Given the description of an element on the screen output the (x, y) to click on. 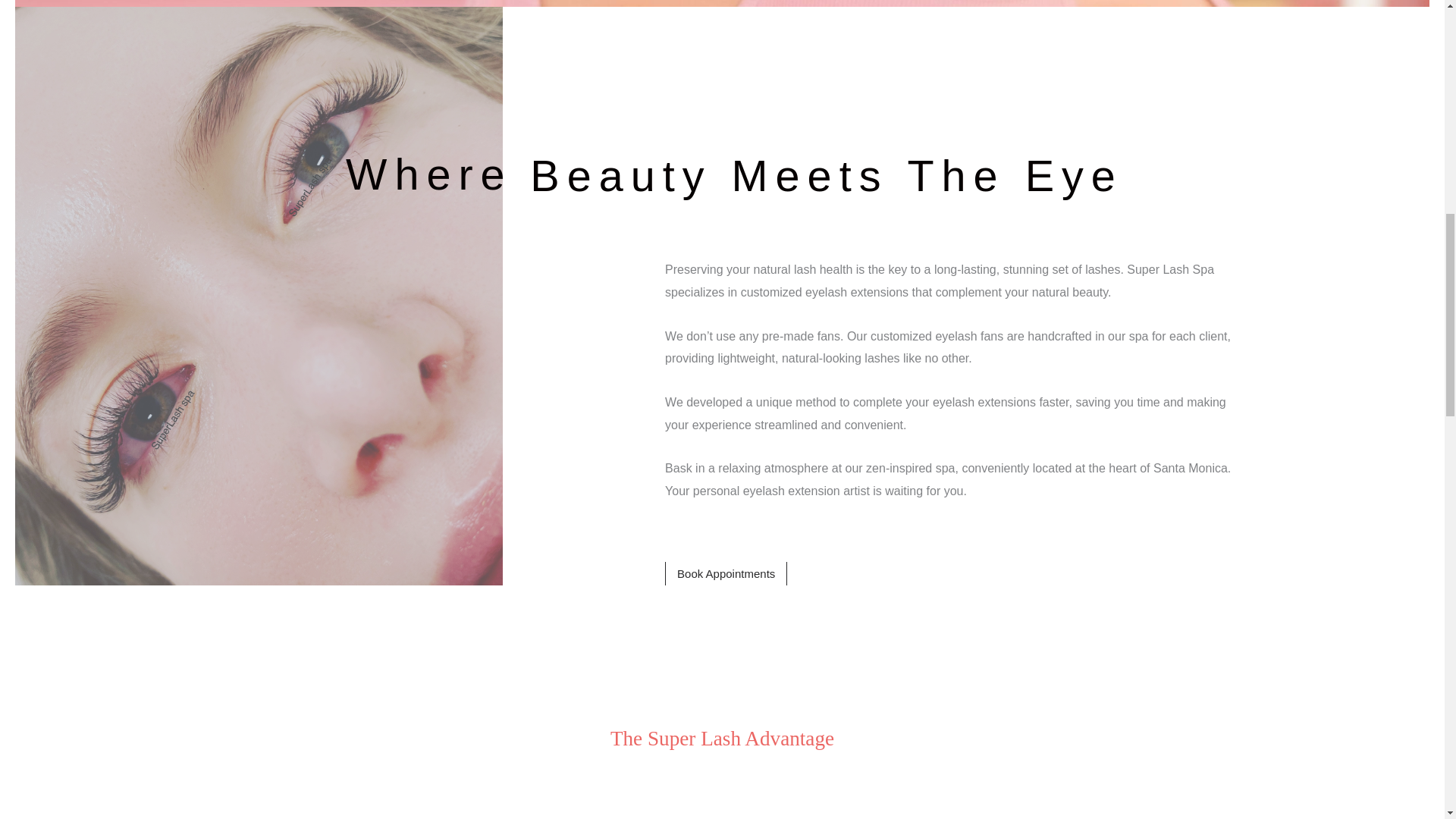
Book Appointments (726, 573)
